Given the description of an element on the screen output the (x, y) to click on. 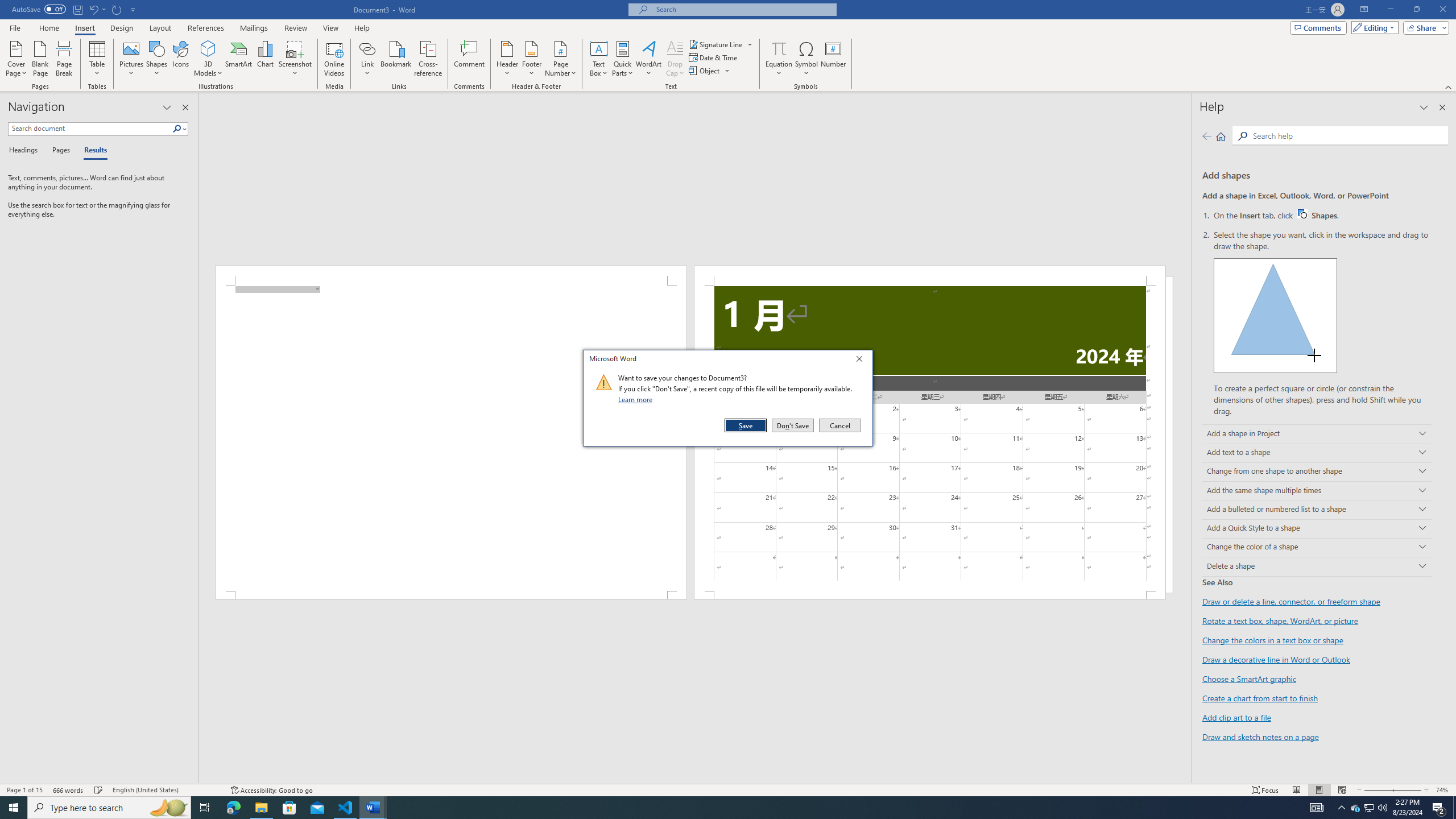
Accessibility Checker Accessibility: Good to go (271, 790)
Change the color of a shape (1316, 547)
Chart... (265, 58)
Action Center, 2 new notifications (1439, 807)
Home (1220, 136)
Signature Line (721, 44)
Text Box (598, 58)
Search highlights icon opens search home window (167, 807)
Header -Section 1- (930, 275)
File Tab (15, 27)
Class: MsoCommandBar (728, 789)
Help (361, 28)
3D Models (208, 48)
Footer (531, 58)
